Given the description of an element on the screen output the (x, y) to click on. 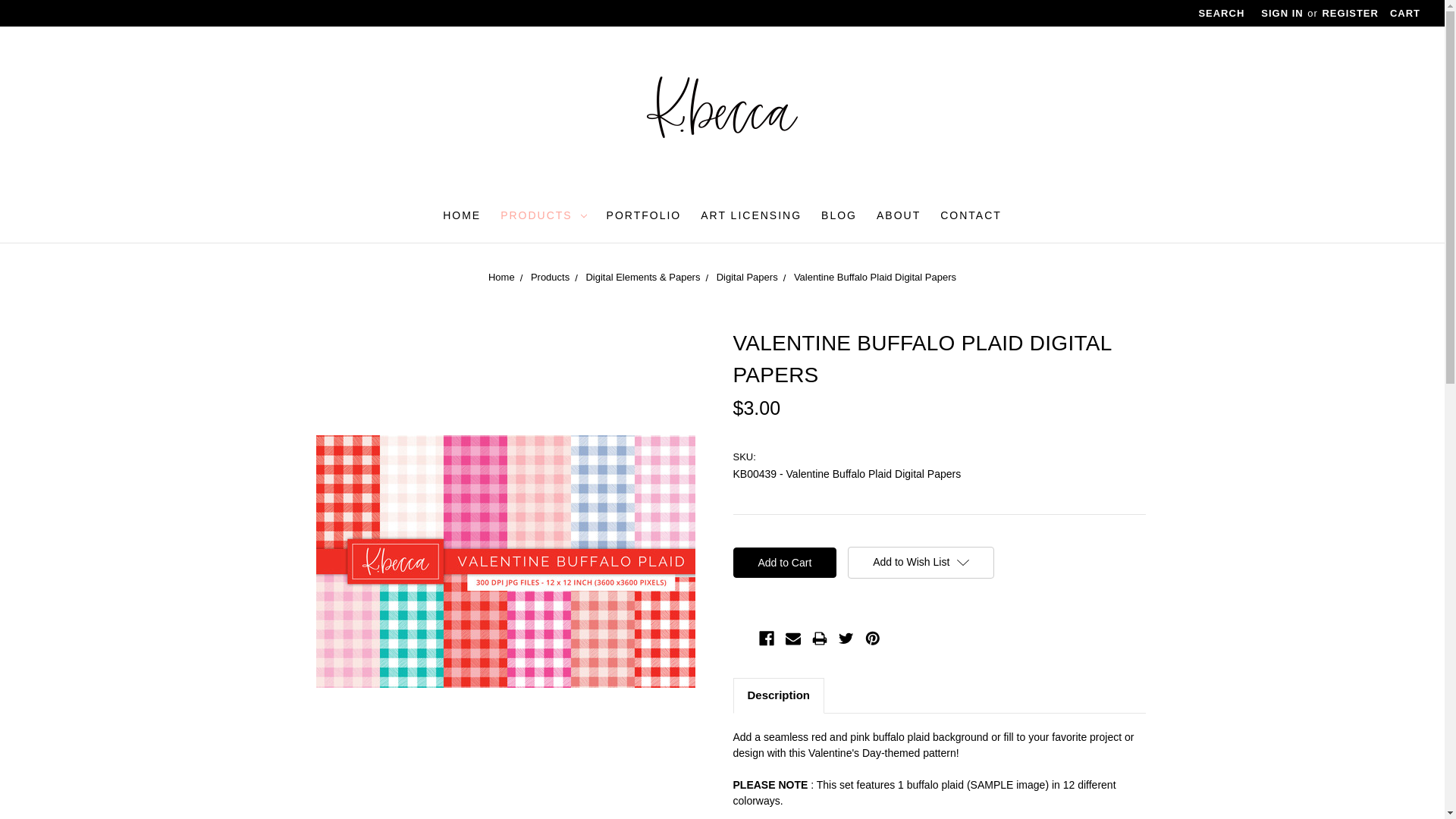
Add to Cart (783, 562)
PRODUCTS (542, 217)
SIGN IN (1281, 15)
k.becca (721, 106)
REGISTER (1349, 15)
HOME (461, 217)
CART (1404, 15)
SEARCH (1220, 15)
